Given the description of an element on the screen output the (x, y) to click on. 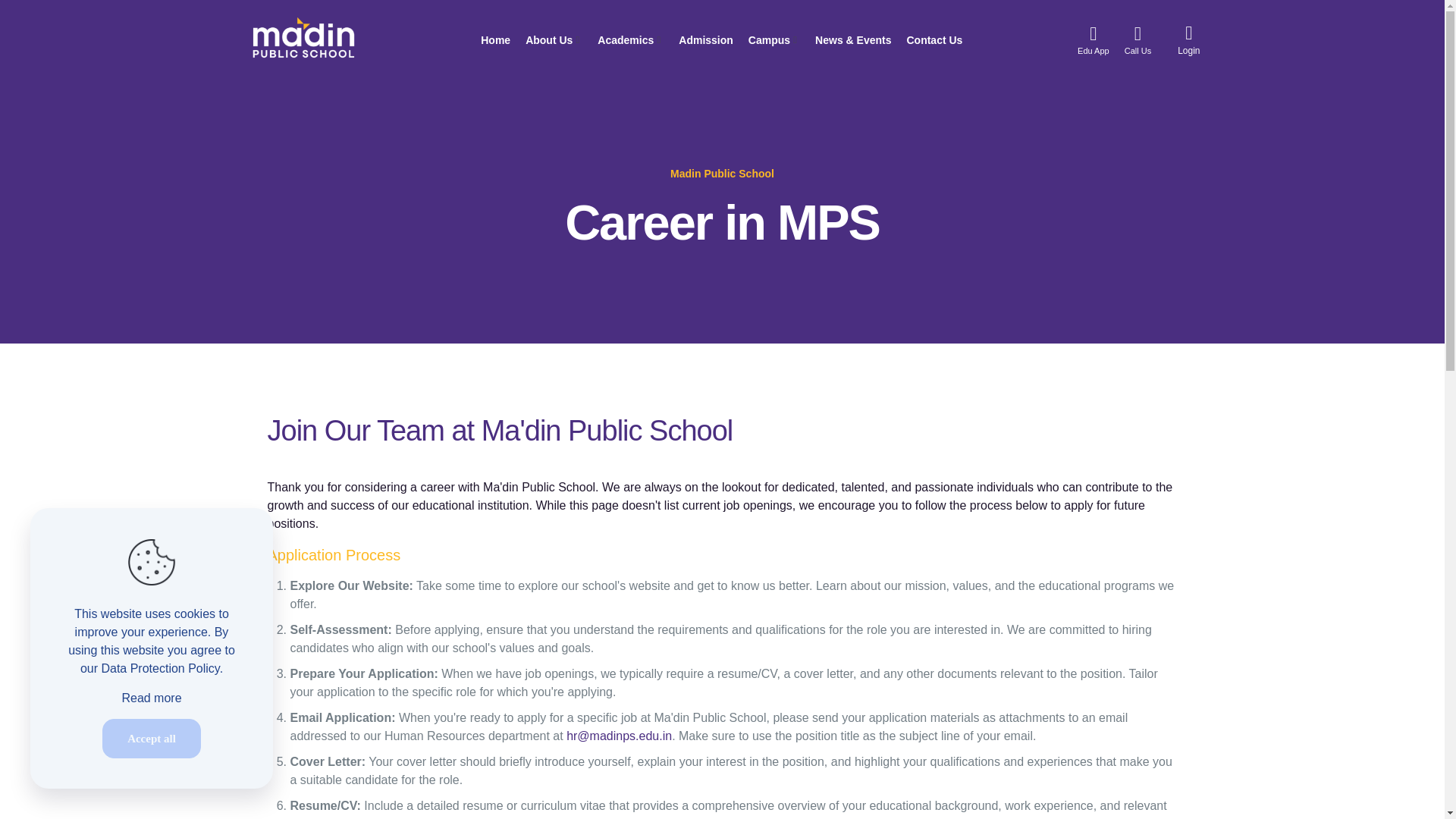
Campus (773, 39)
Academics (630, 39)
Admission (705, 39)
Ma'din EDU Application (1093, 39)
About Us (553, 39)
Home (495, 39)
